Given the description of an element on the screen output the (x, y) to click on. 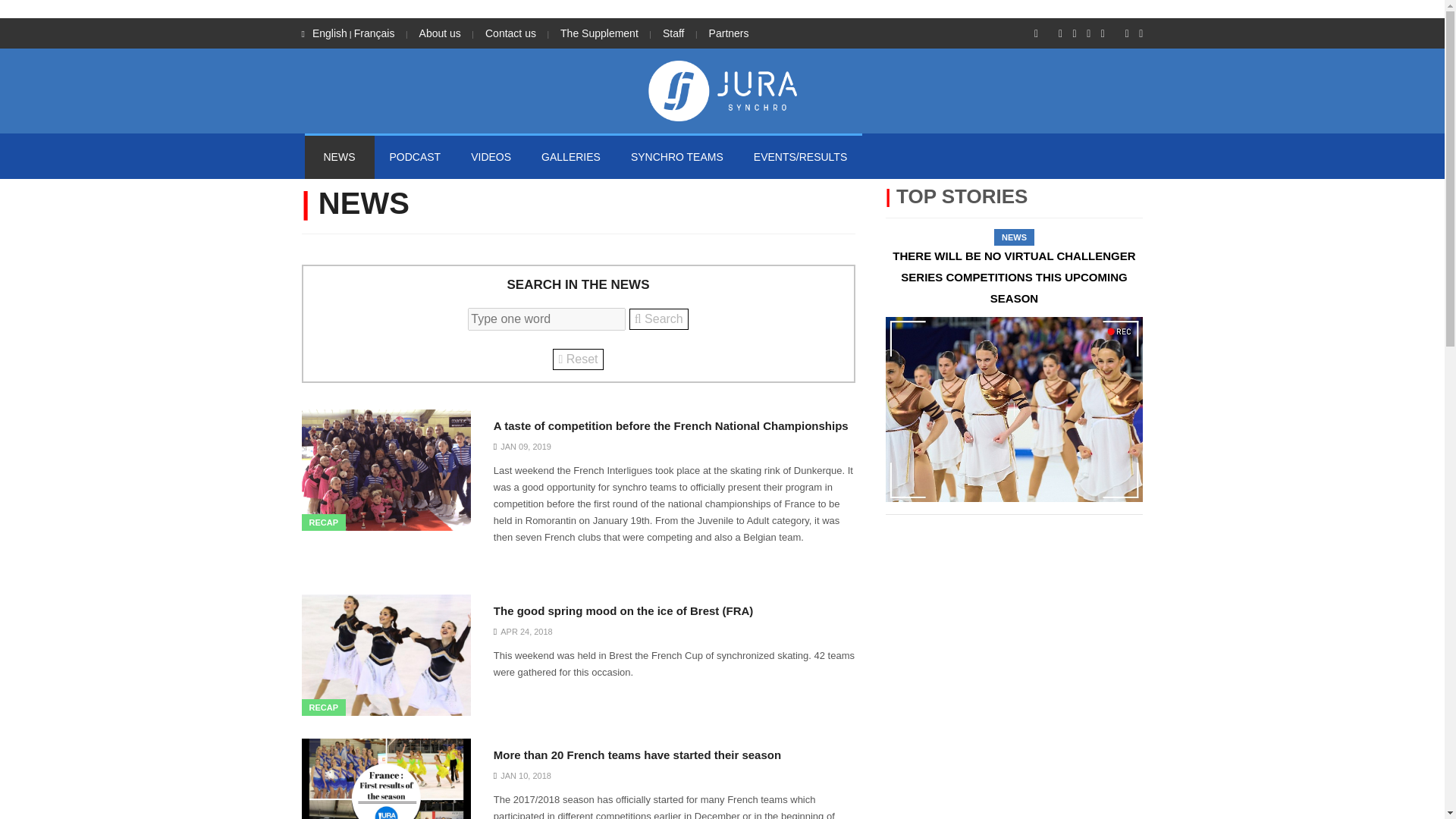
VIDEOS (490, 156)
 Search (658, 319)
SYNCHRO TEAMS (676, 156)
PODCAST (415, 156)
The Supplement (599, 33)
GALLERIES (570, 156)
About us (440, 33)
NEWS (339, 156)
RECAP (323, 707)
